Given the description of an element on the screen output the (x, y) to click on. 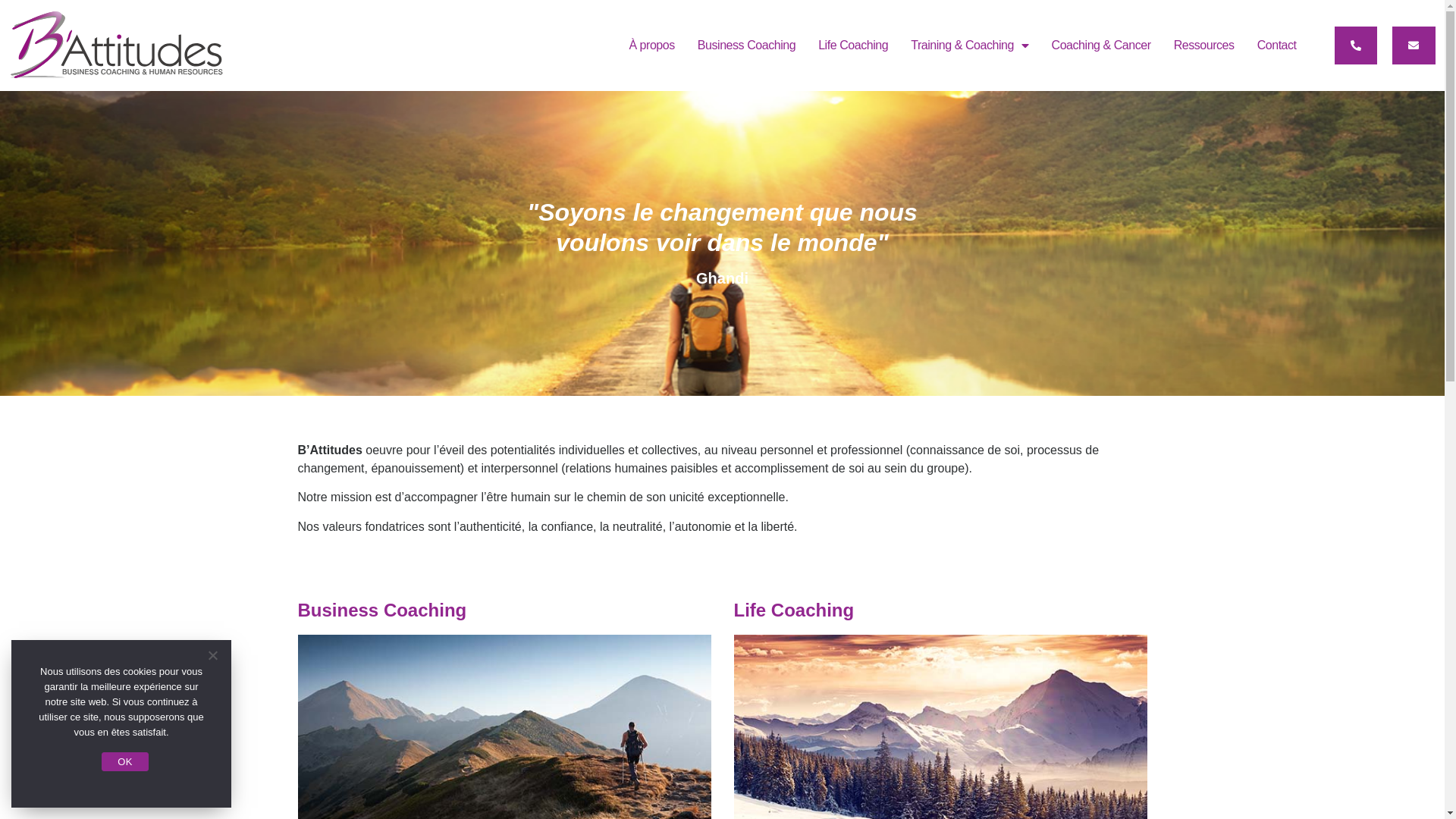
Ressources Element type: text (1204, 45)
Non Element type: hover (211, 654)
OK Element type: text (124, 761)
Training & Coaching Element type: text (969, 45)
Contact Element type: text (1276, 45)
Business Coaching Element type: text (746, 45)
Life Coaching Element type: text (852, 45)
Coaching & Cancer Element type: text (1101, 45)
